Given the description of an element on the screen output the (x, y) to click on. 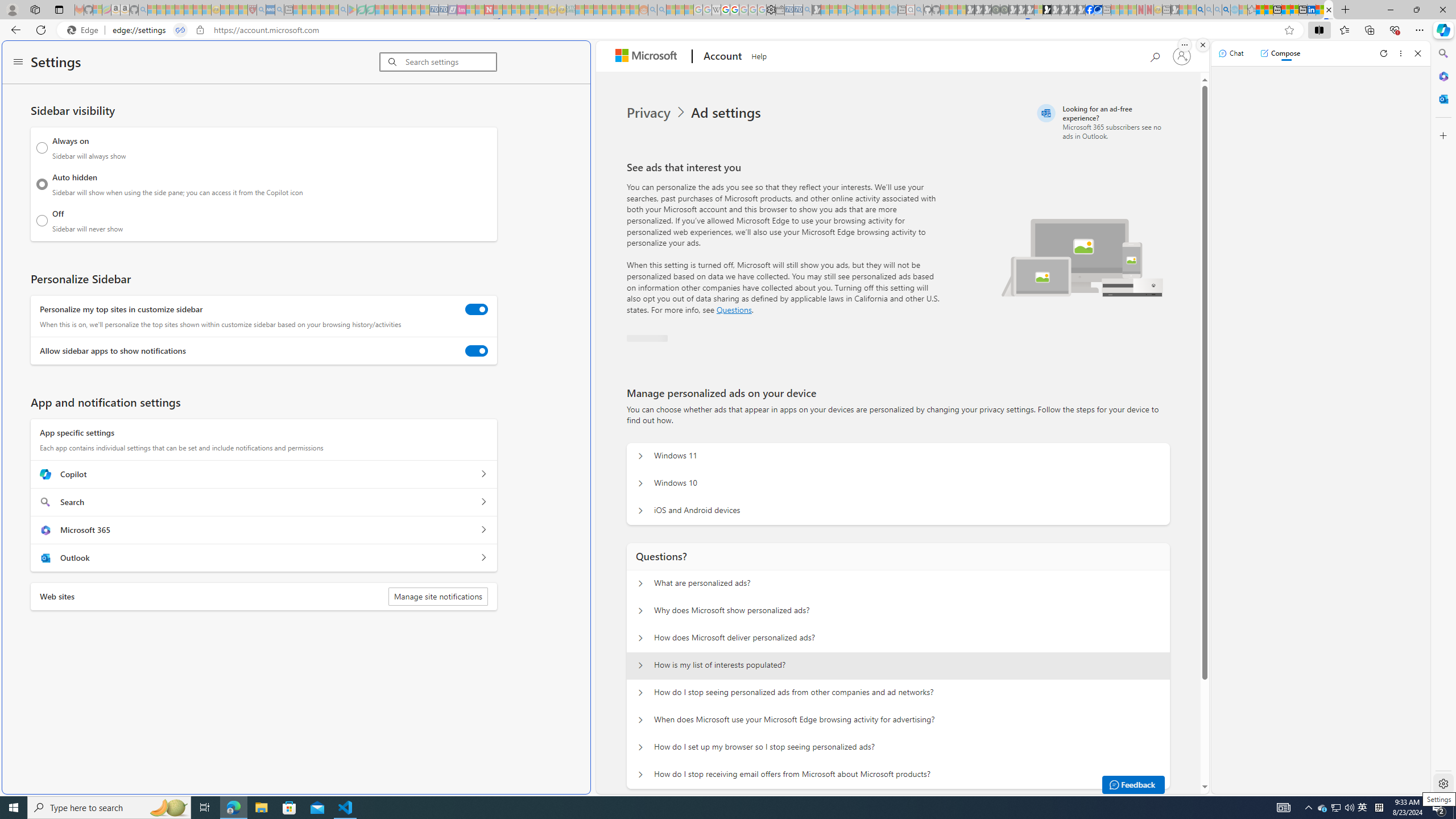
Jobs - lastminute.com Investor Portal - Sleeping (461, 9)
Settings menu (18, 62)
LinkedIn (1311, 9)
Go to Questions section (733, 309)
Illustration of multiple devices (1082, 256)
Local - MSN - Sleeping (242, 9)
Bing AI - Search (1200, 9)
